Given the description of an element on the screen output the (x, y) to click on. 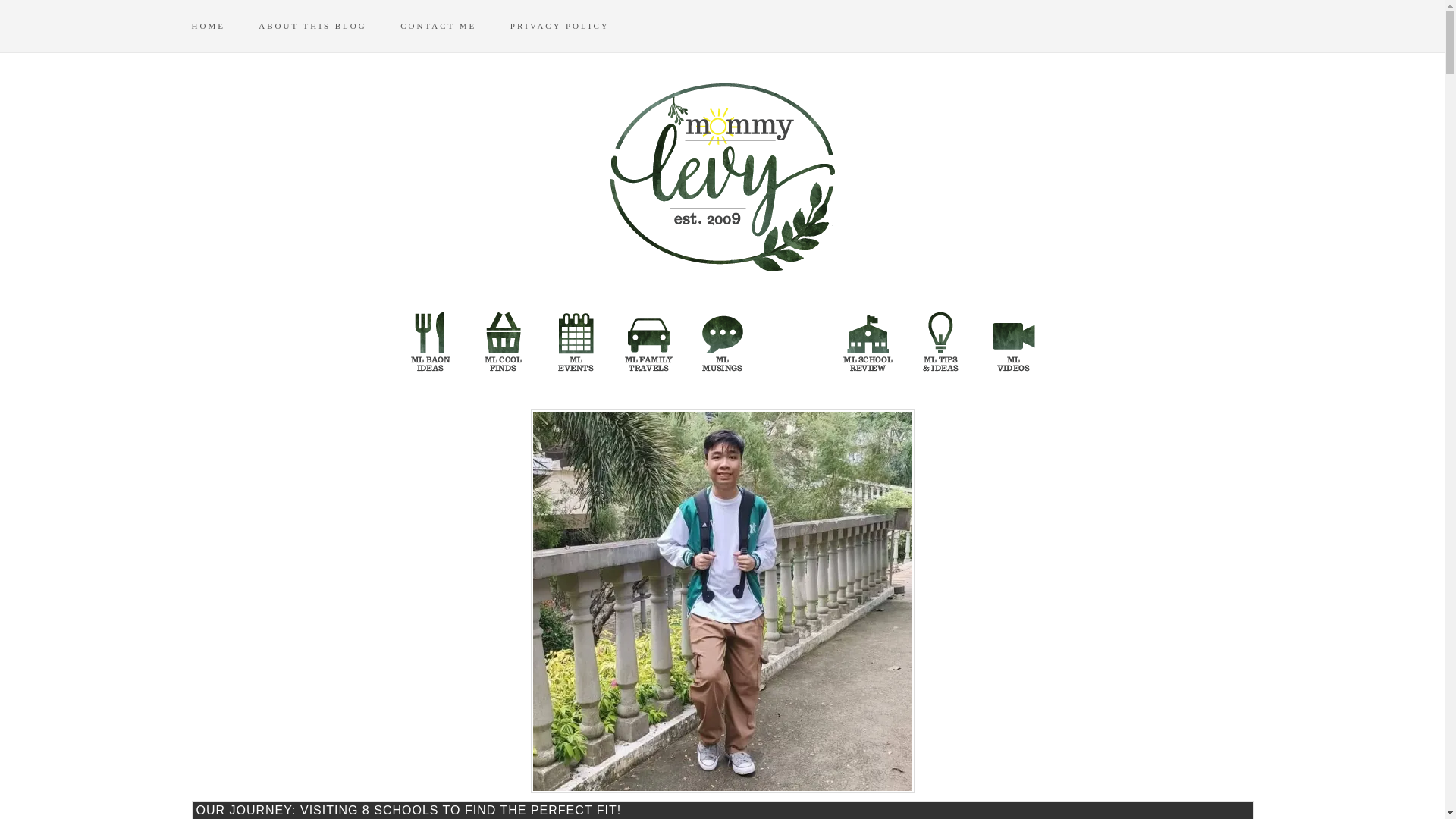
PRIVACY POLICY (575, 26)
ABOUT THIS BLOG (327, 26)
CONTACT ME (452, 26)
HOME (221, 26)
OUR JOURNEY: VISITING 8 SCHOOLS TO FIND THE PERFECT FIT! (721, 809)
